Given the description of an element on the screen output the (x, y) to click on. 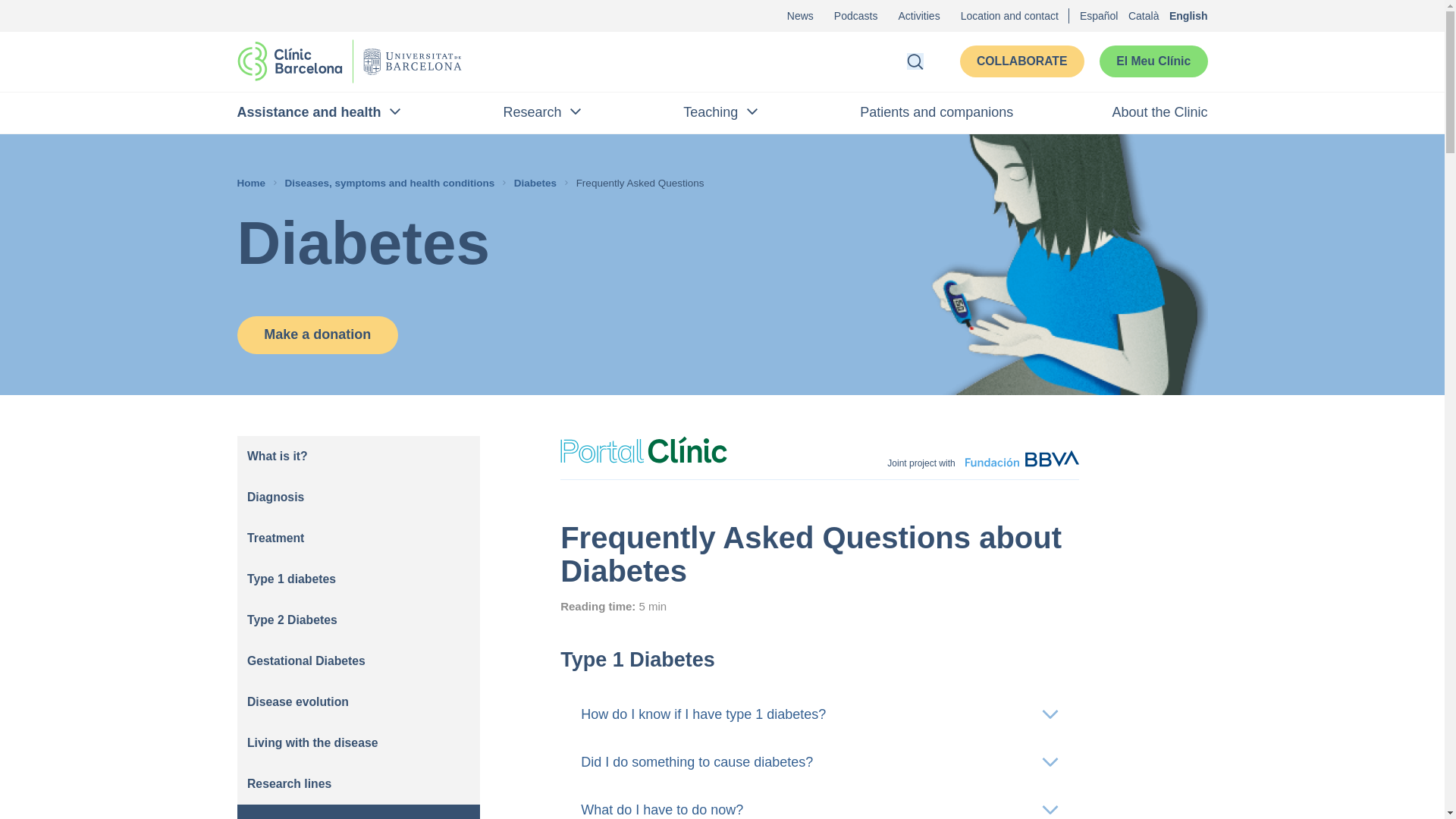
Patients and companions (936, 112)
Location and contact (1009, 15)
About the Clinic (1159, 112)
Podcasts (855, 15)
News (800, 15)
Diseases, symptoms and health conditions (392, 182)
Research (543, 112)
Assistance and health (319, 112)
COLLABORATE (1021, 60)
Diabetes (537, 182)
Activities (918, 15)
Teaching (721, 112)
Frequently Asked Questions (643, 182)
